Given the description of an element on the screen output the (x, y) to click on. 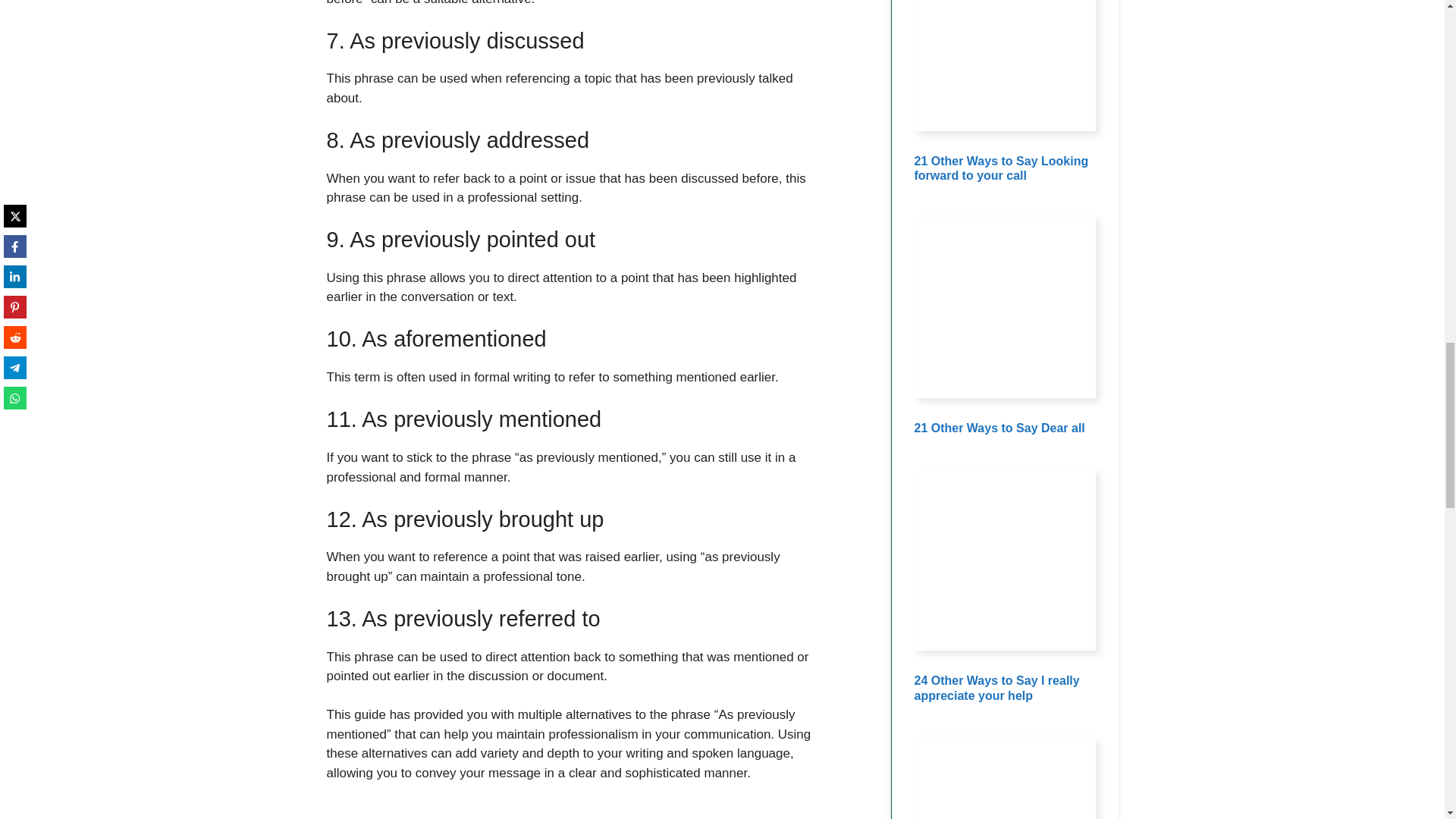
21 Other Ways to Say Looking forward to your call (1001, 167)
21 Other Ways to Say Dear all (999, 427)
24 Other Ways to Say I really appreciate your help (997, 687)
